Given the description of an element on the screen output the (x, y) to click on. 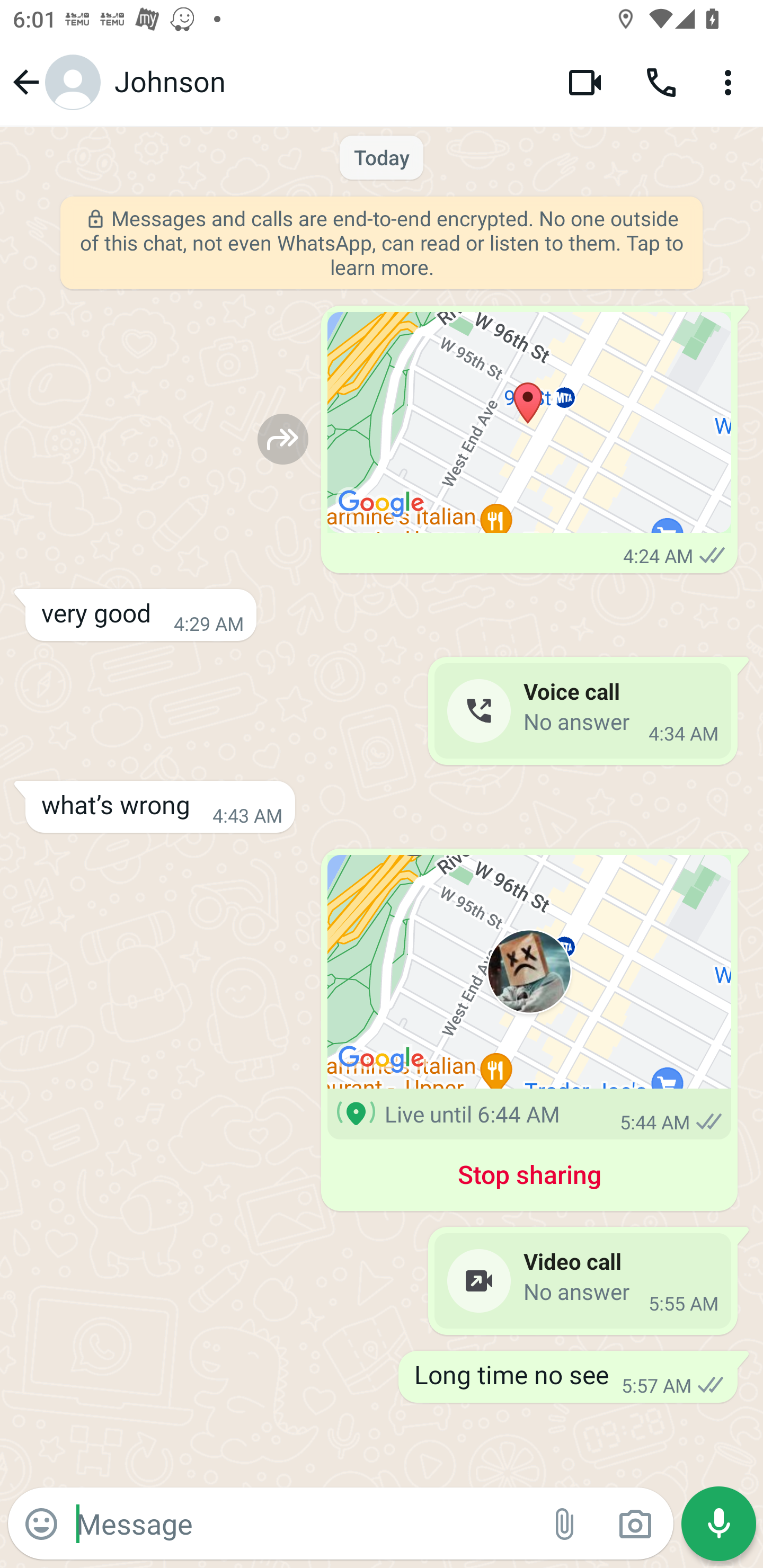
Johnson (327, 82)
Navigate up (54, 82)
Video call (585, 81)
Voice call (661, 81)
More options (731, 81)
Location (528, 422)
Forward to… (282, 438)
Live location (528, 971)
Stop sharing (529, 1178)
Emoji (41, 1523)
Attach (565, 1523)
Camera (634, 1523)
Message (303, 1523)
